Given the description of an element on the screen output the (x, y) to click on. 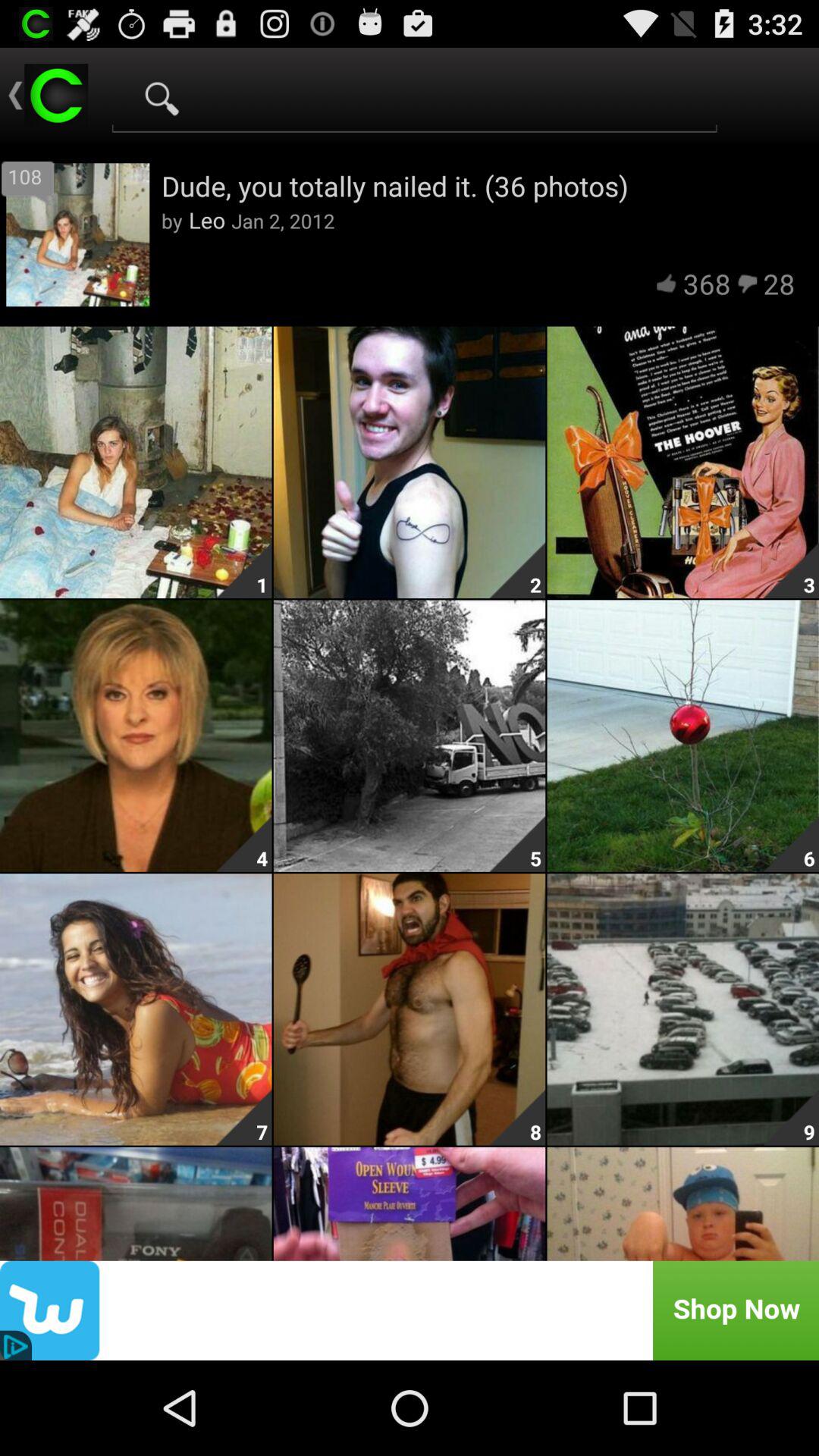
click on the image shown below the number 368 (683, 462)
click on the second row third image (791, 843)
click on number 7 shown on the bottom left image (243, 1117)
click on the 6 image (683, 735)
select the bottom middle image (409, 1203)
